Given the description of an element on the screen output the (x, y) to click on. 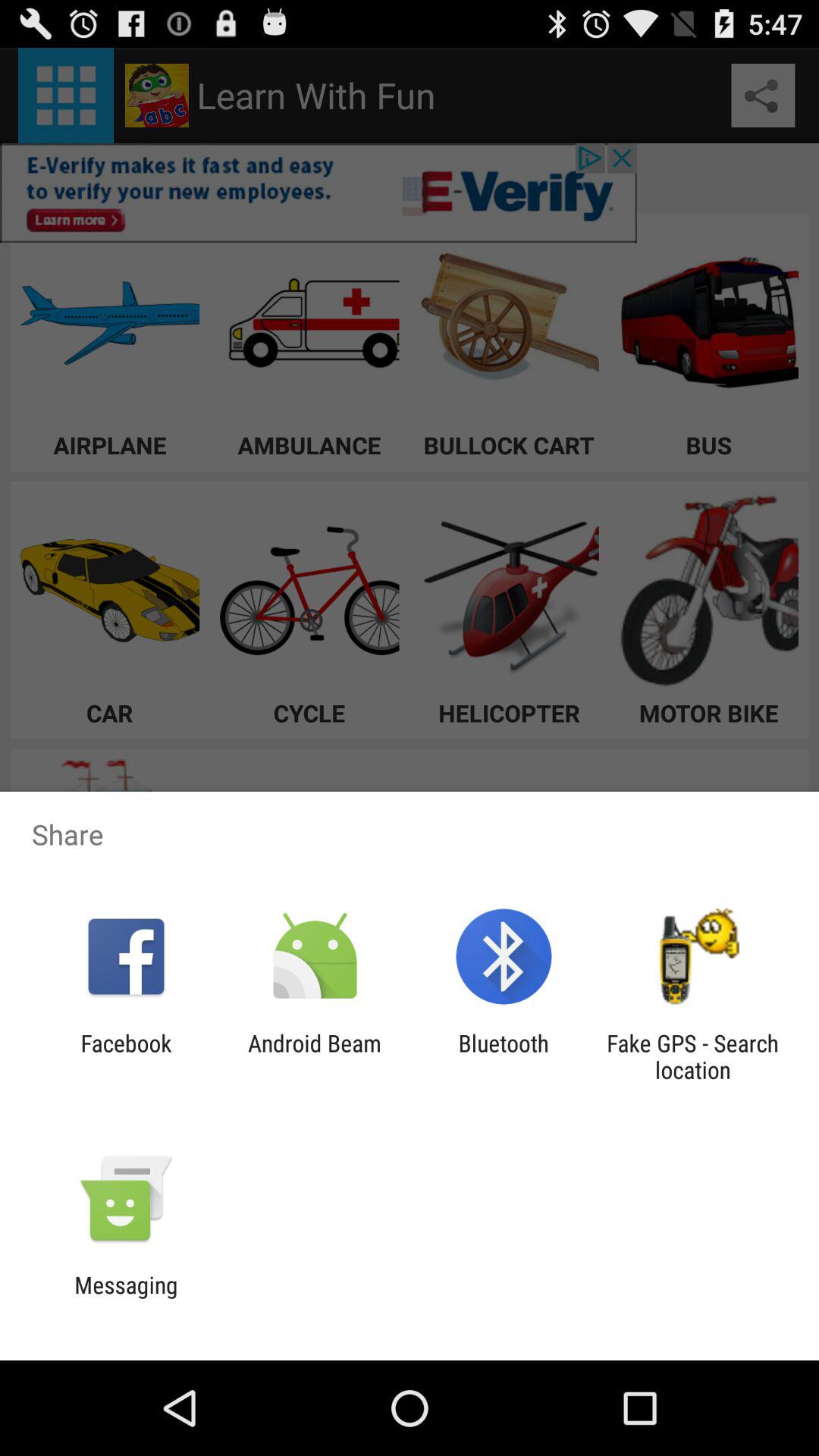
tap android beam item (314, 1056)
